Given the description of an element on the screen output the (x, y) to click on. 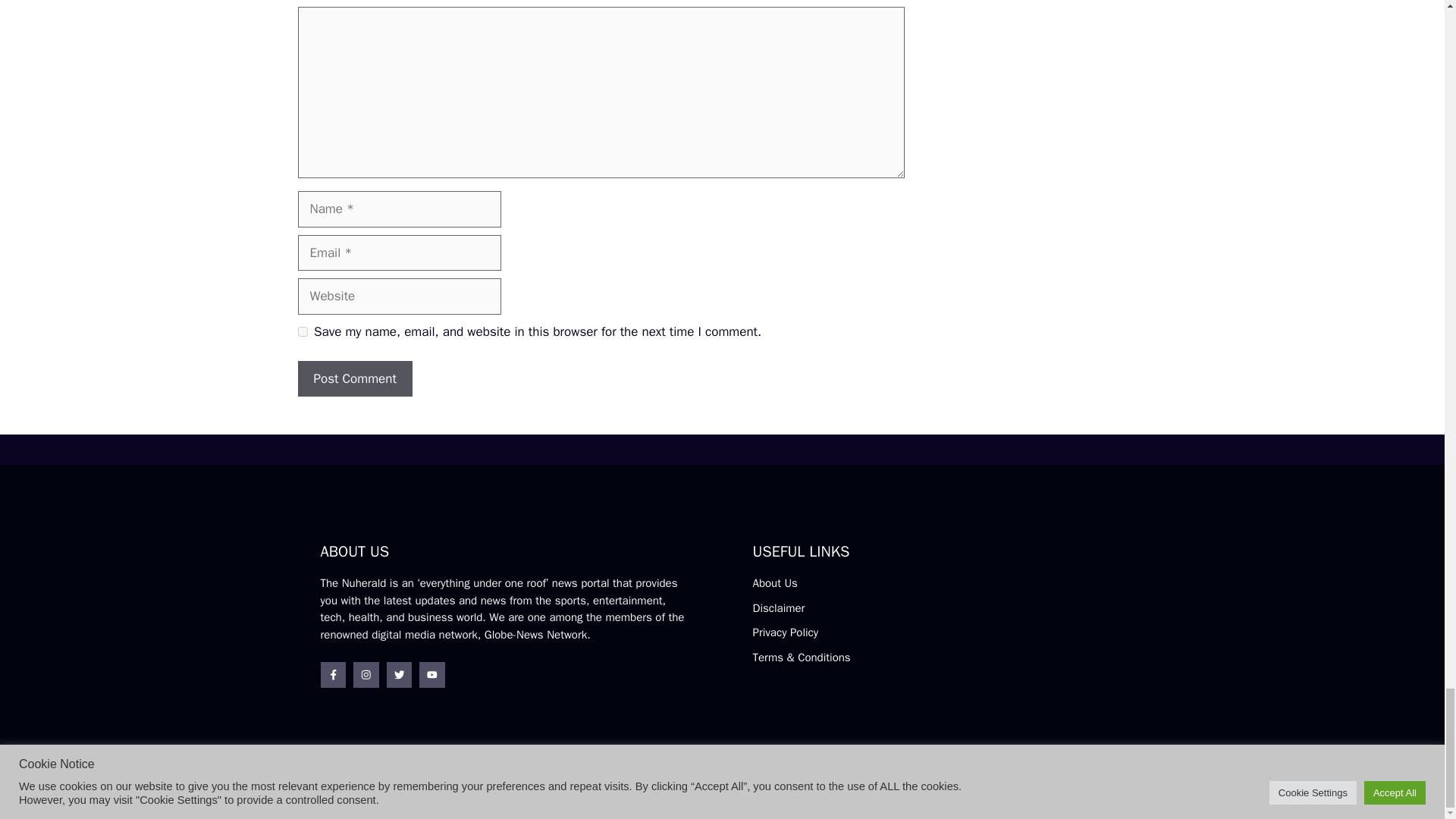
Disclaimer (778, 608)
yes (302, 331)
About Us (774, 582)
Advertise (1032, 790)
Privacy Policy (785, 632)
Post Comment (354, 379)
Contact Us (1096, 791)
Post Comment (354, 379)
